Given the description of an element on the screen output the (x, y) to click on. 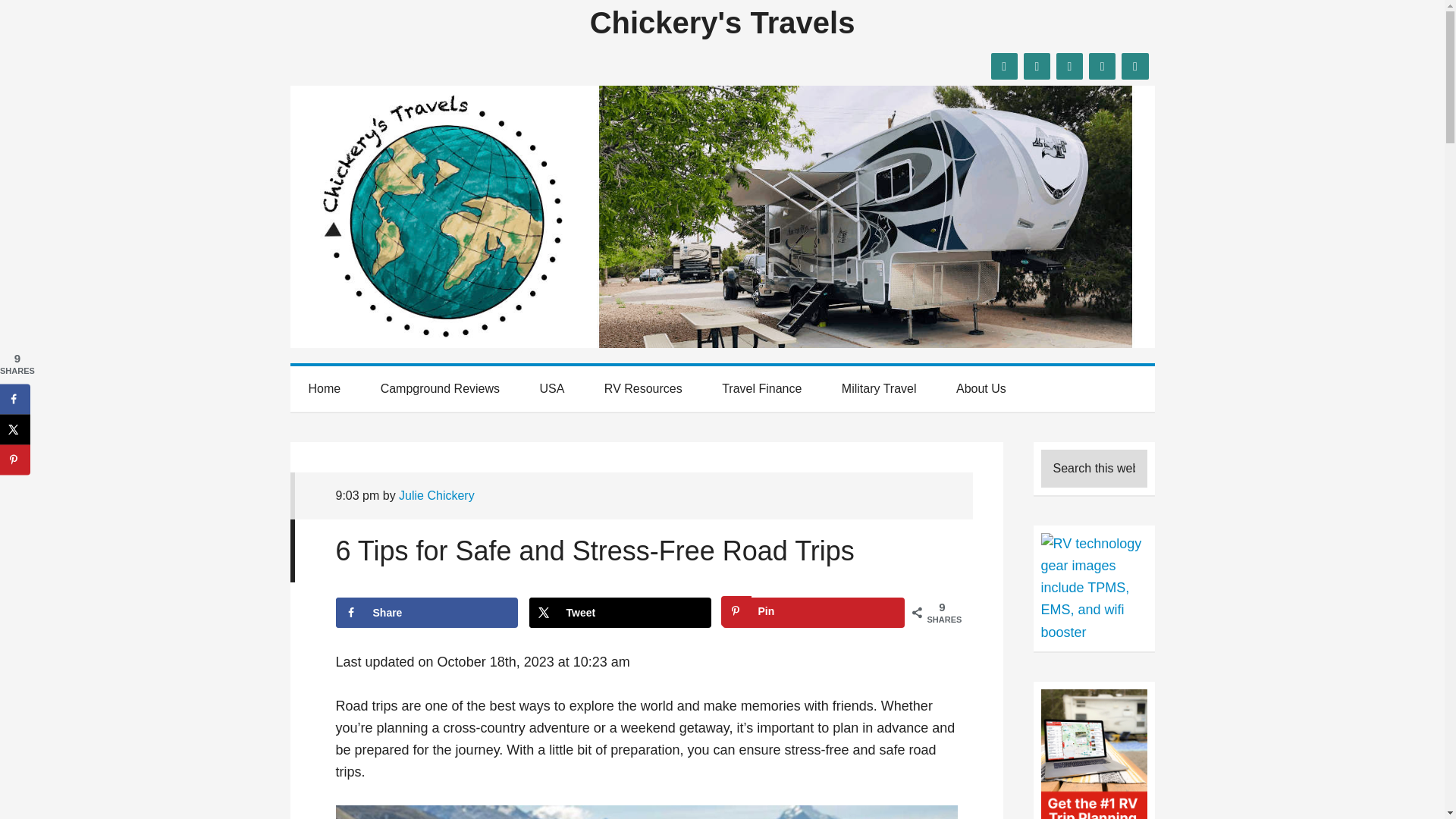
Home (323, 388)
Share on X (15, 429)
Save to Pinterest (15, 459)
Instagram (1070, 66)
Facebook (1004, 66)
Share on Facebook (15, 399)
Chickery's Travels (722, 22)
Share on X (620, 612)
Save to Pinterest (813, 612)
YouTube (1102, 66)
Campground Reviews (440, 388)
Pinterest (1134, 66)
Share on Facebook (425, 612)
